Given the description of an element on the screen output the (x, y) to click on. 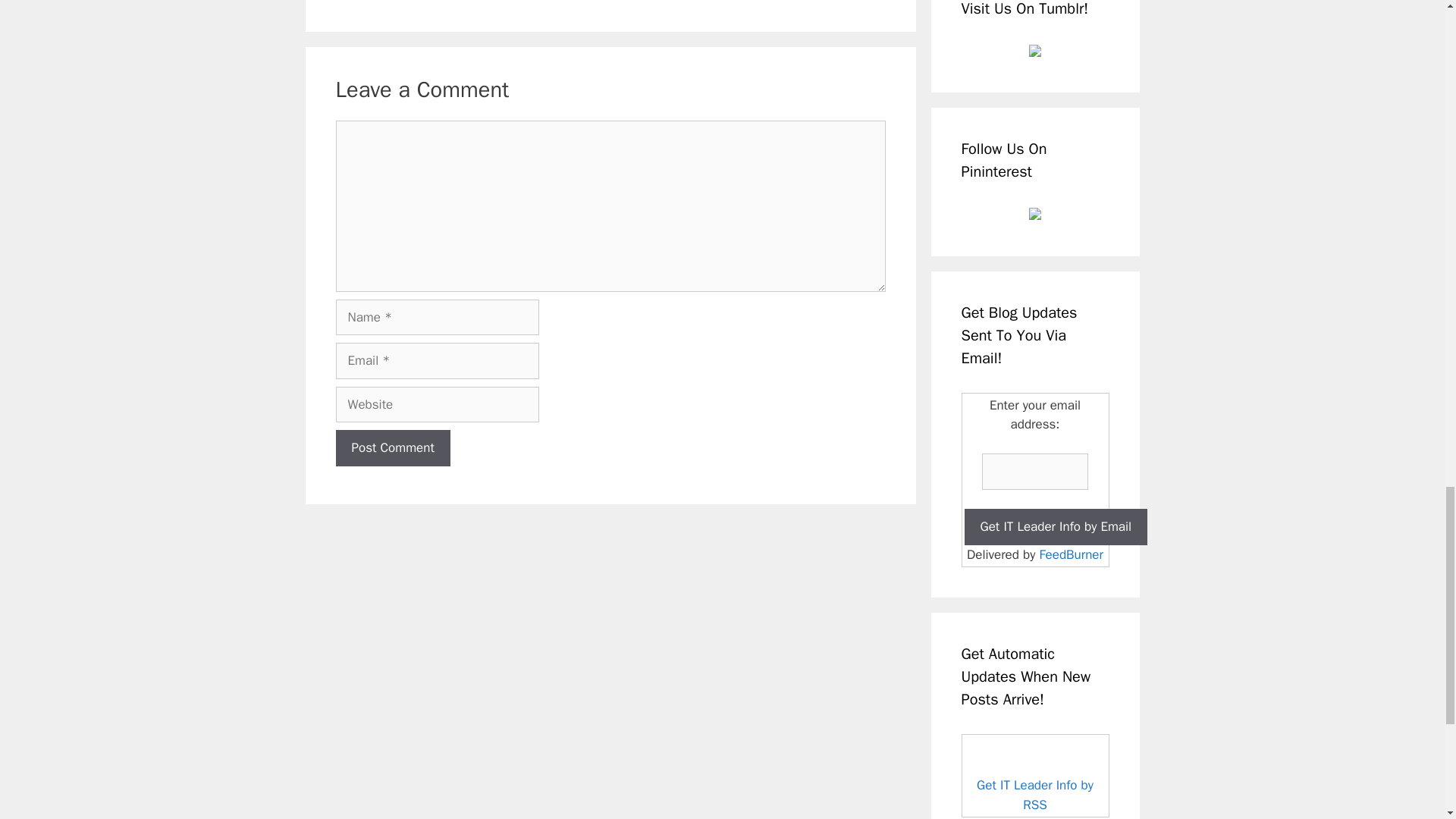
Post Comment (391, 447)
Subscribe to my feed (1034, 775)
Get IT Leader Info by Email (1055, 526)
Post Comment (391, 447)
Subscribe to my feed (1034, 795)
